Given the description of an element on the screen output the (x, y) to click on. 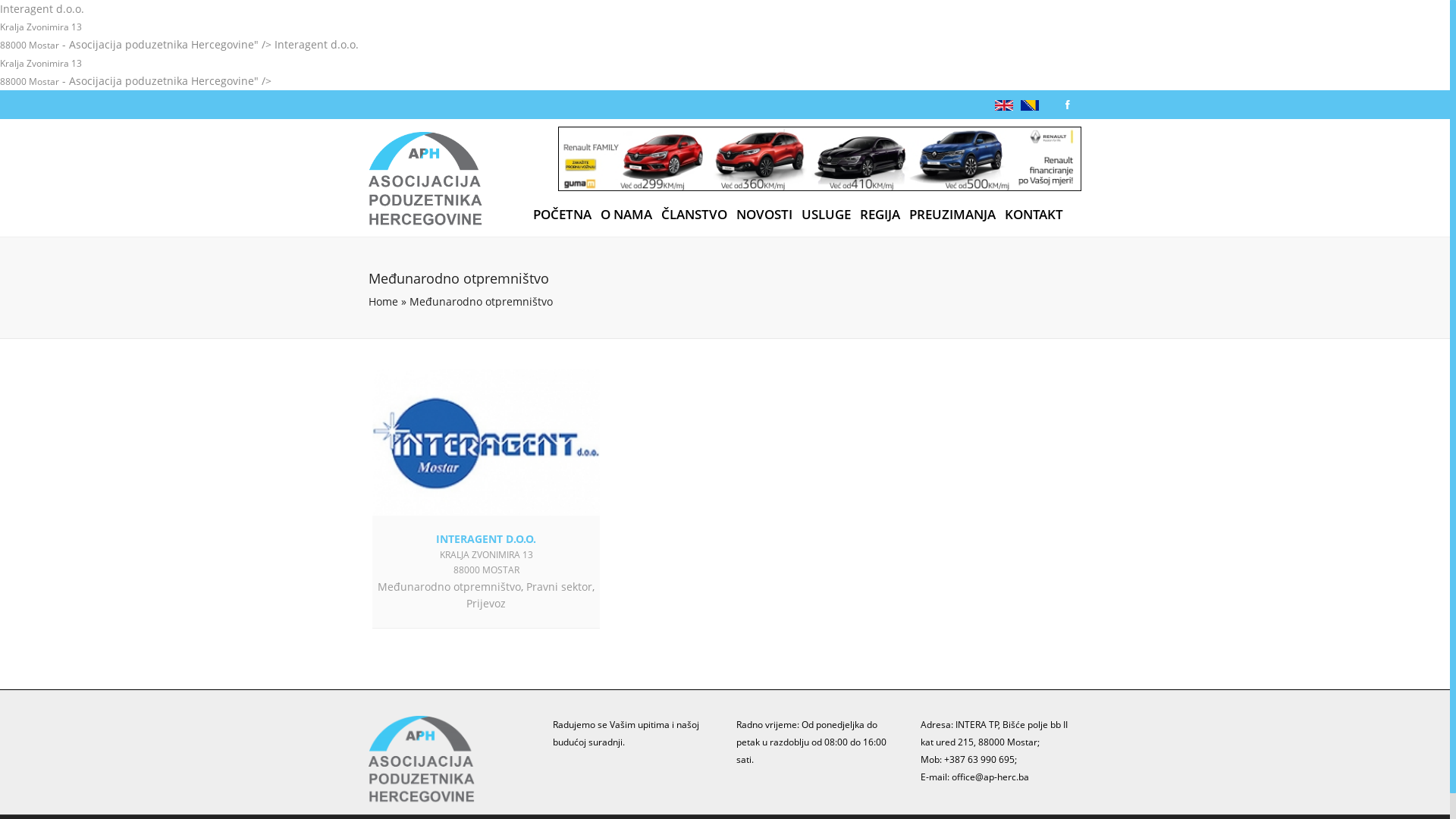
Hrvatski Element type: hover (1029, 105)
INTERAGENT D.O.O. Element type: text (486, 538)
Home Element type: text (383, 301)
PREUZIMANJA Element type: text (952, 214)
Prijevoz Element type: text (485, 603)
REGIJA Element type: text (879, 214)
O NAMA Element type: text (626, 214)
Asocijacija poduzetnika Hercegovine Element type: hover (425, 180)
Facebook Element type: hover (1067, 104)
Pravni sektor Element type: text (559, 586)
KONTAKT Element type: text (1033, 214)
English Element type: hover (1003, 105)
NOVOSTI Element type: text (764, 214)
USLUGE Element type: text (825, 214)
